Given the description of an element on the screen output the (x, y) to click on. 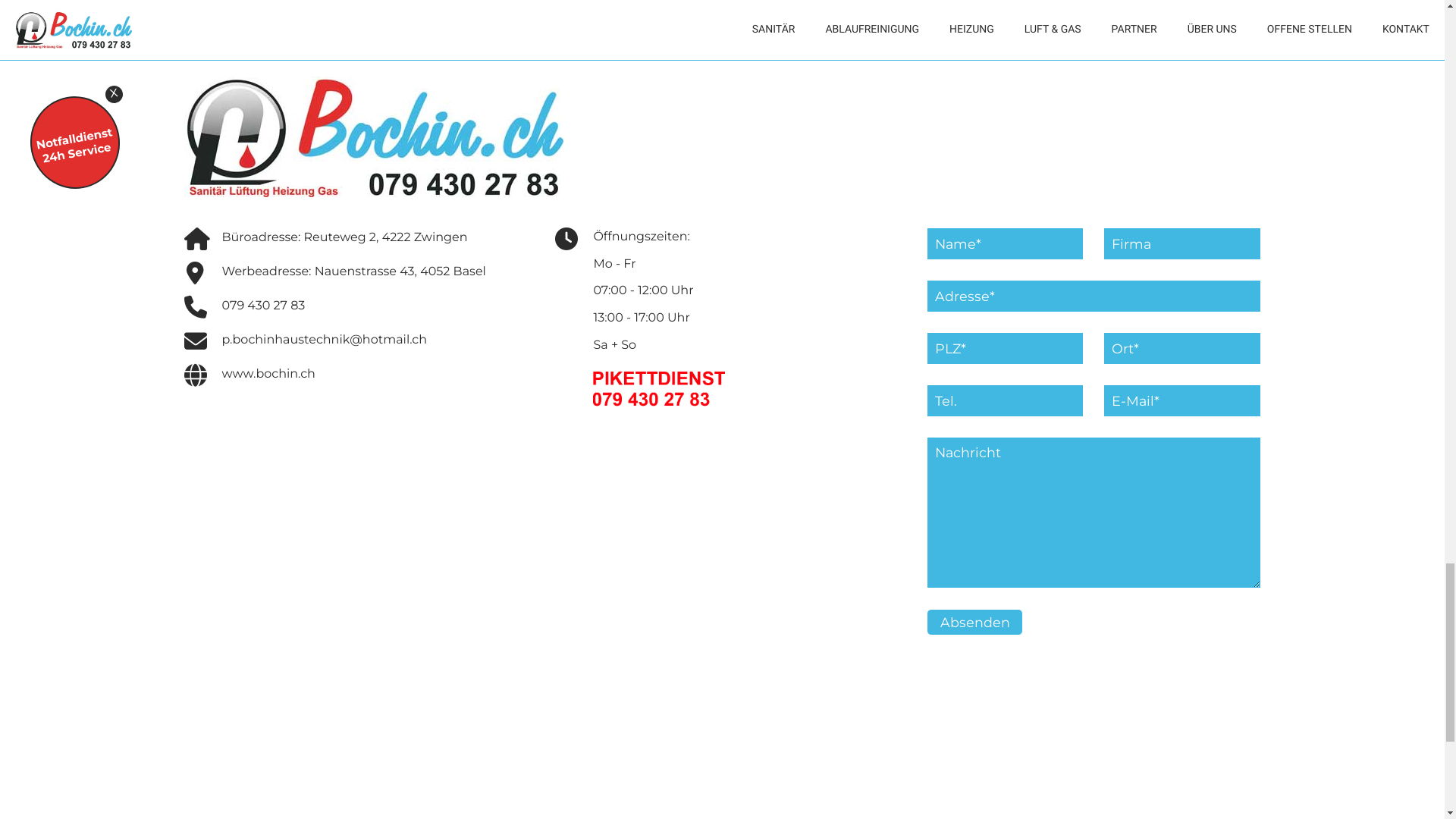
Kontakt Element type: text (231, 504)
